Given the description of an element on the screen output the (x, y) to click on. 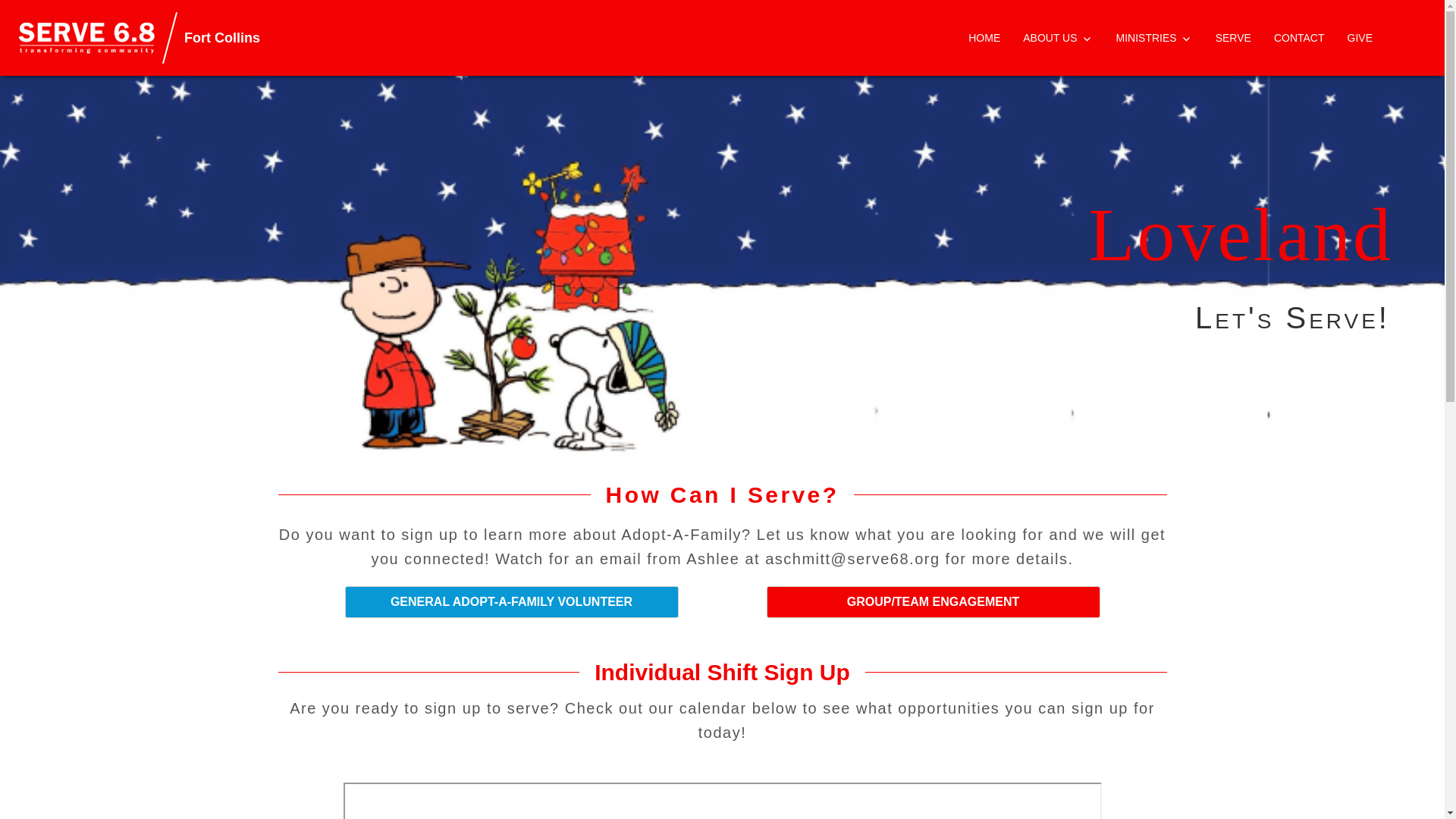
MINISTRIES (1154, 38)
GENERAL ADOPT-A-FAMILY VOLUNTEER (510, 602)
ABOUT US (1057, 38)
Fort Collins (222, 68)
CONTACT (1299, 38)
